Given the description of an element on the screen output the (x, y) to click on. 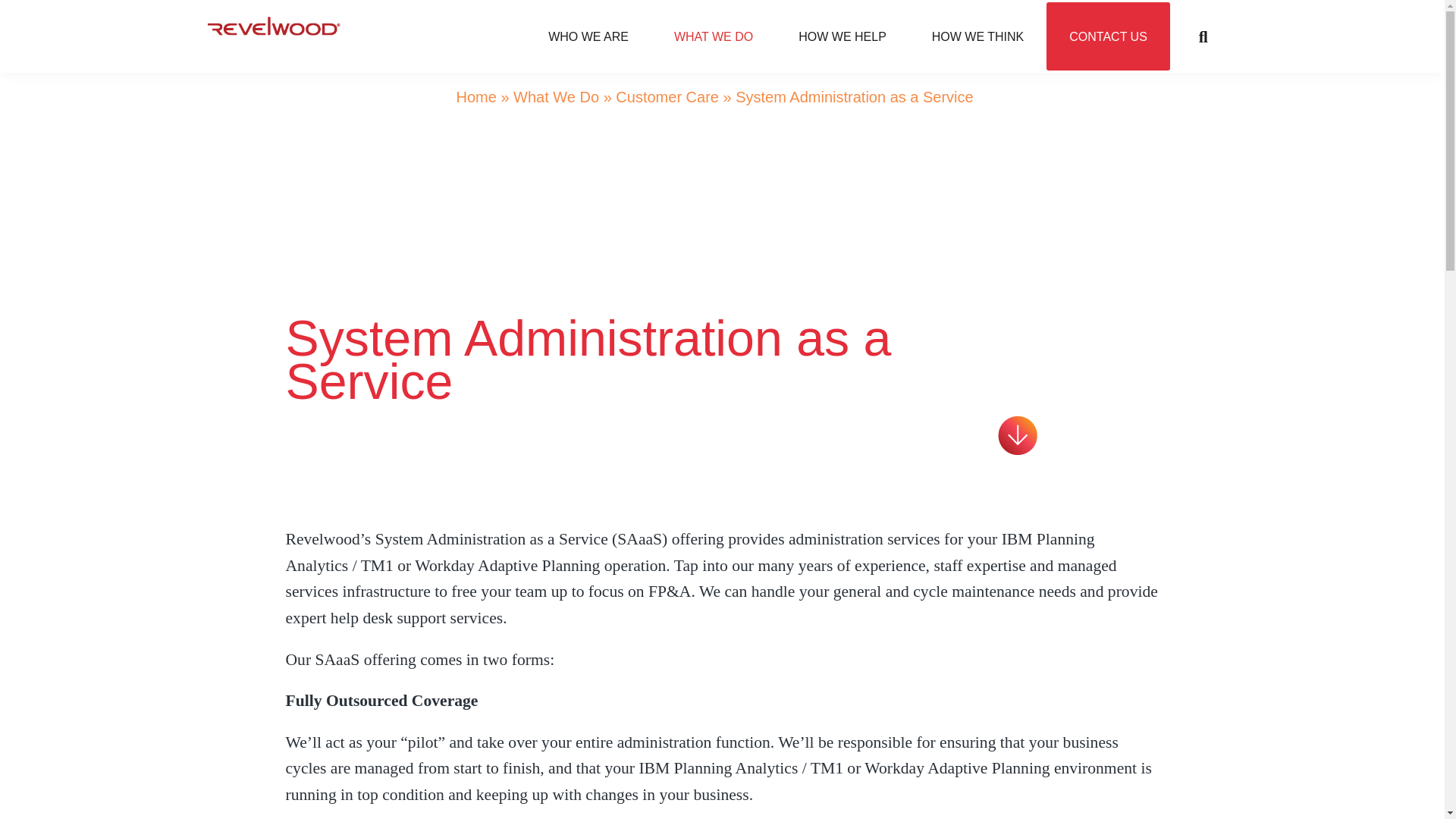
HOW WE HELP (842, 36)
CONTACT US (1108, 36)
HOW WE THINK (977, 36)
Skip to main content (880, 36)
WHO WE ARE (713, 36)
